Given the description of an element on the screen output the (x, y) to click on. 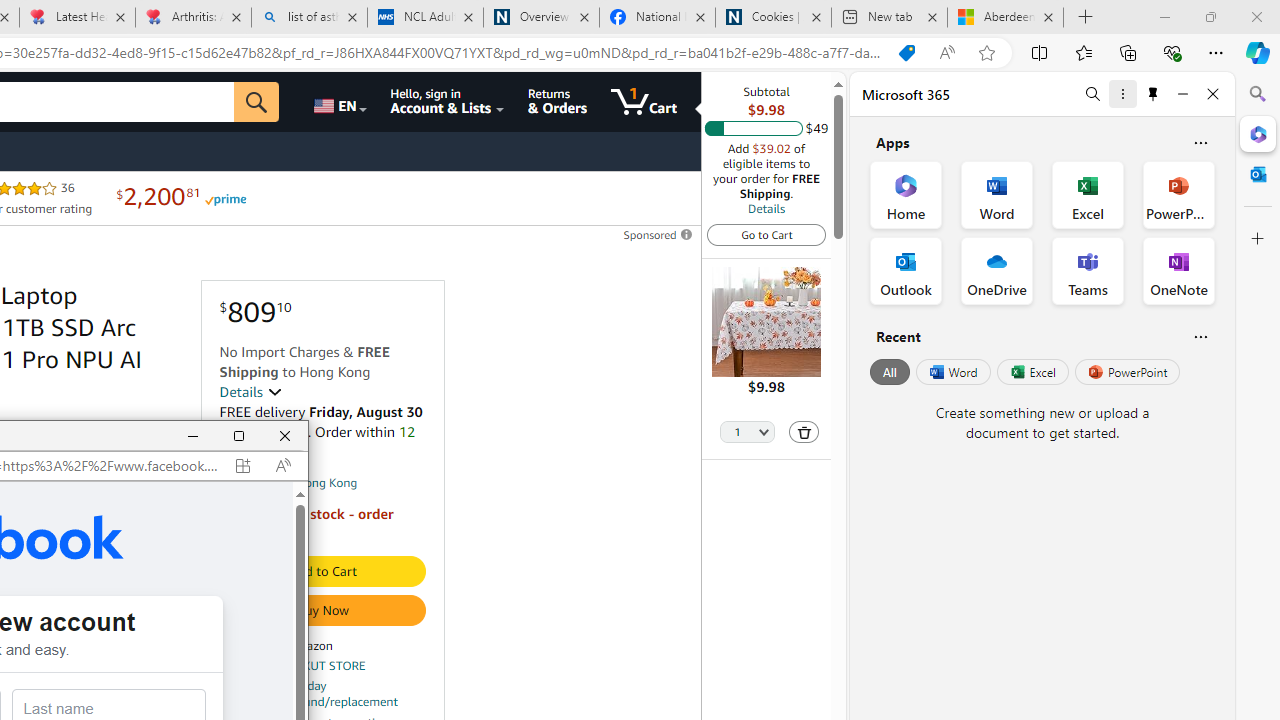
Maximize (239, 436)
PowerPoint (1127, 372)
Cookies | About | NICE (772, 17)
Teams Office App (1087, 270)
Returns & Orders (557, 101)
Word Office App (996, 194)
App available. Install Facebook (242, 465)
Quantity Selector (747, 433)
Hello, sign in Account & Lists (447, 101)
